Given the description of an element on the screen output the (x, y) to click on. 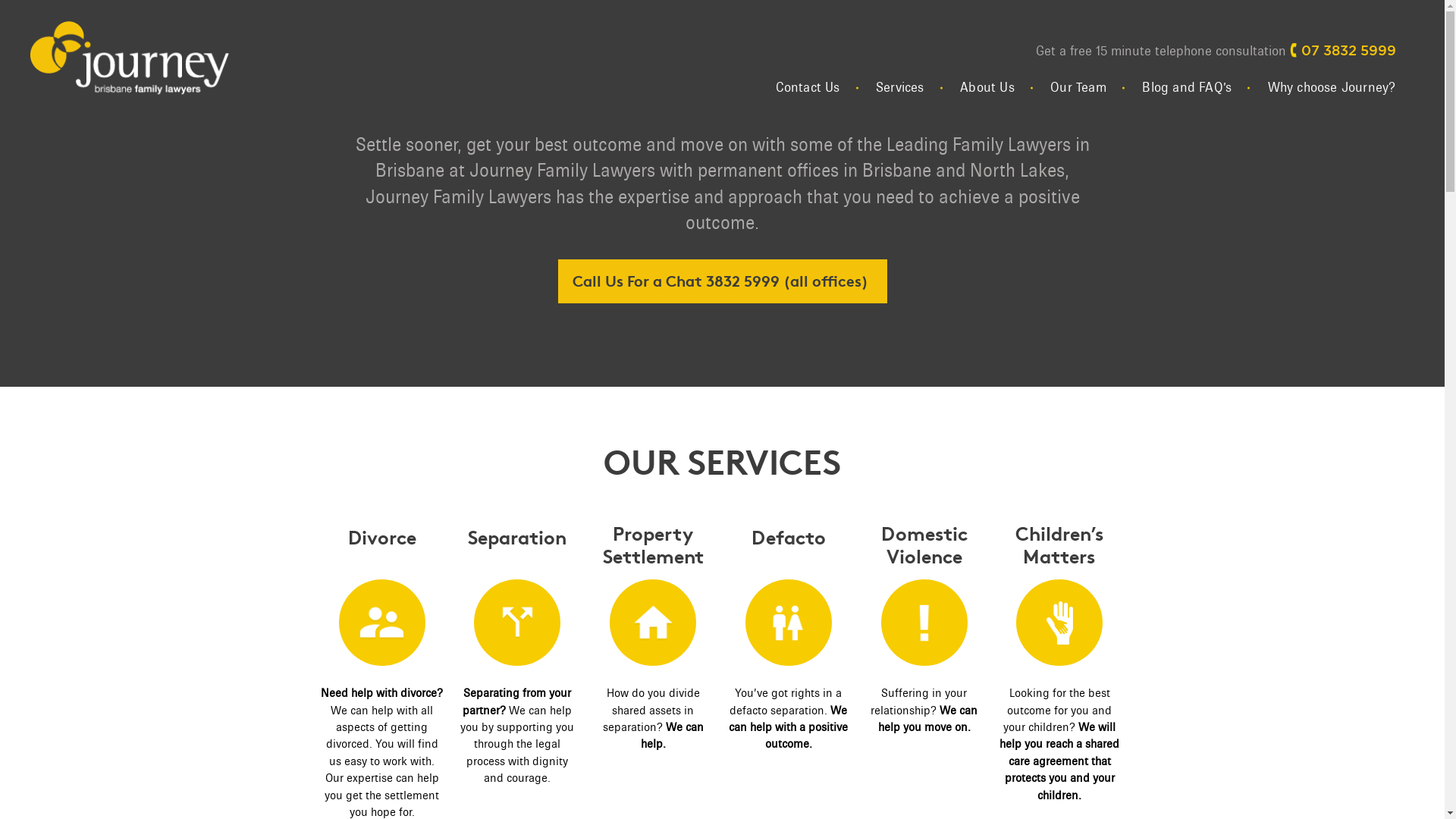
Contact Us Element type: text (807, 87)
Property Settlement Element type: hover (653, 642)
Why choose Journey? Element type: text (1322, 87)
Defacto Element type: text (788, 536)
Separation Element type: text (516, 536)
Call Us For a Chat 3832 5999 (all offices)  Element type: text (722, 281)
About Us Element type: text (986, 87)
Defacto Element type: hover (788, 646)
Domestic Violence Element type: hover (923, 642)
Journey Family Lawyers Element type: hover (129, 67)
Separation Element type: hover (517, 646)
Domestic Violence Element type: text (923, 545)
Our Team Element type: text (1078, 87)
Divorce Element type: hover (381, 646)
Property Settlement Element type: text (653, 545)
07 3832 5999 Element type: text (1342, 50)
Divorce Element type: text (382, 536)
Services Element type: text (899, 87)
